Given the description of an element on the screen output the (x, y) to click on. 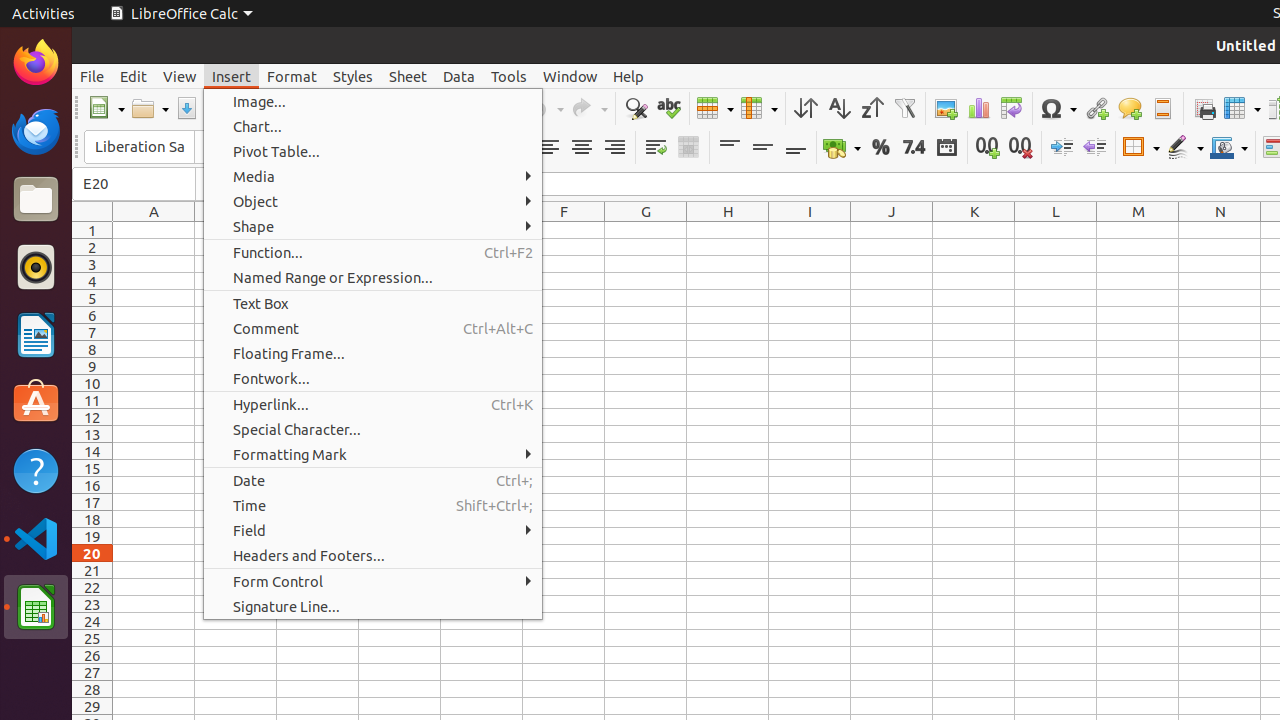
Align Right Element type: push-button (614, 147)
Function... Element type: menu-item (373, 252)
Ubuntu Software Element type: push-button (36, 402)
Edit Element type: menu (133, 76)
Floating Frame... Element type: menu-item (373, 353)
